Given the description of an element on the screen output the (x, y) to click on. 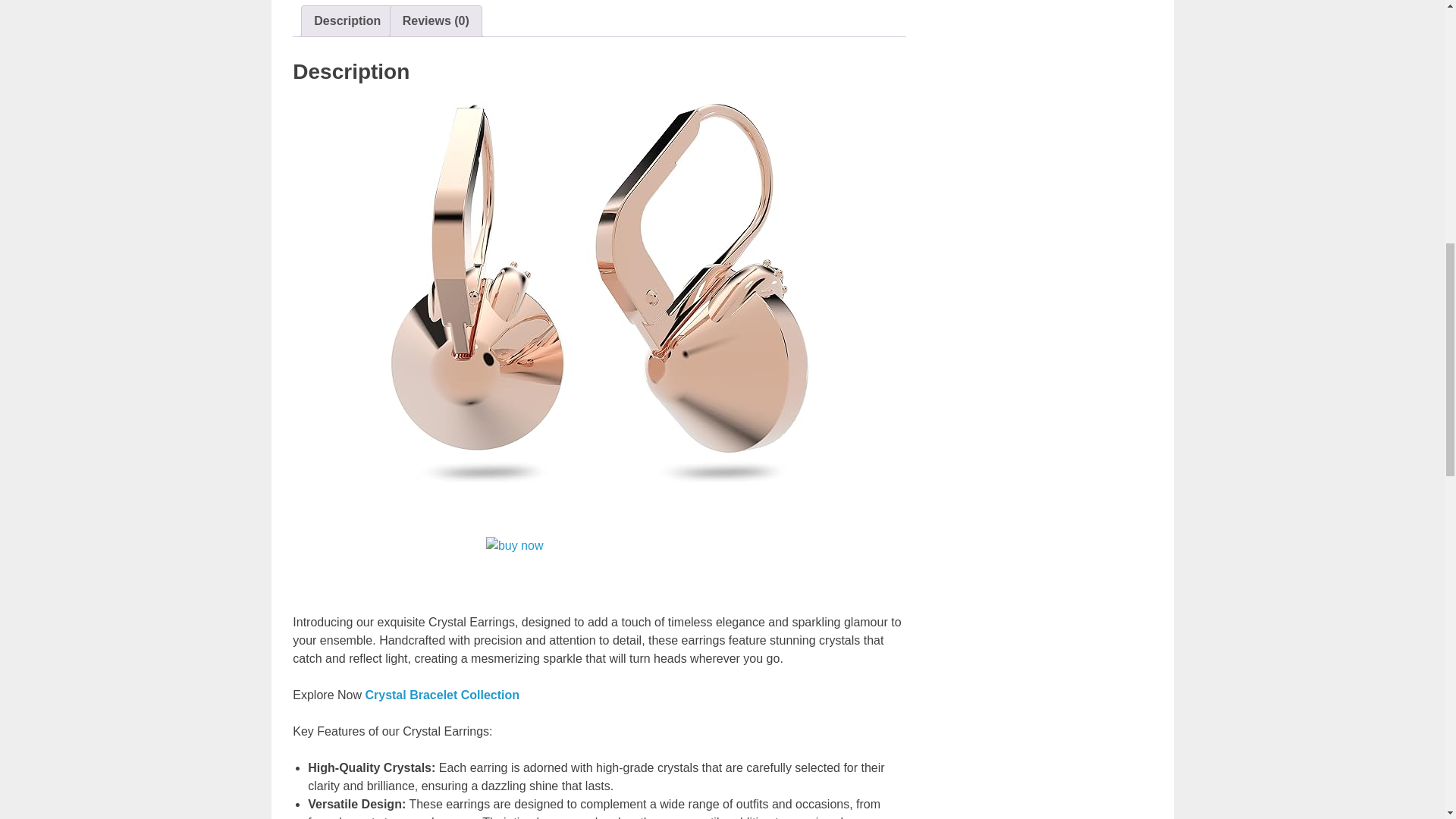
Crystal Bracelet Collection (442, 694)
Description (347, 20)
